Given the description of an element on the screen output the (x, y) to click on. 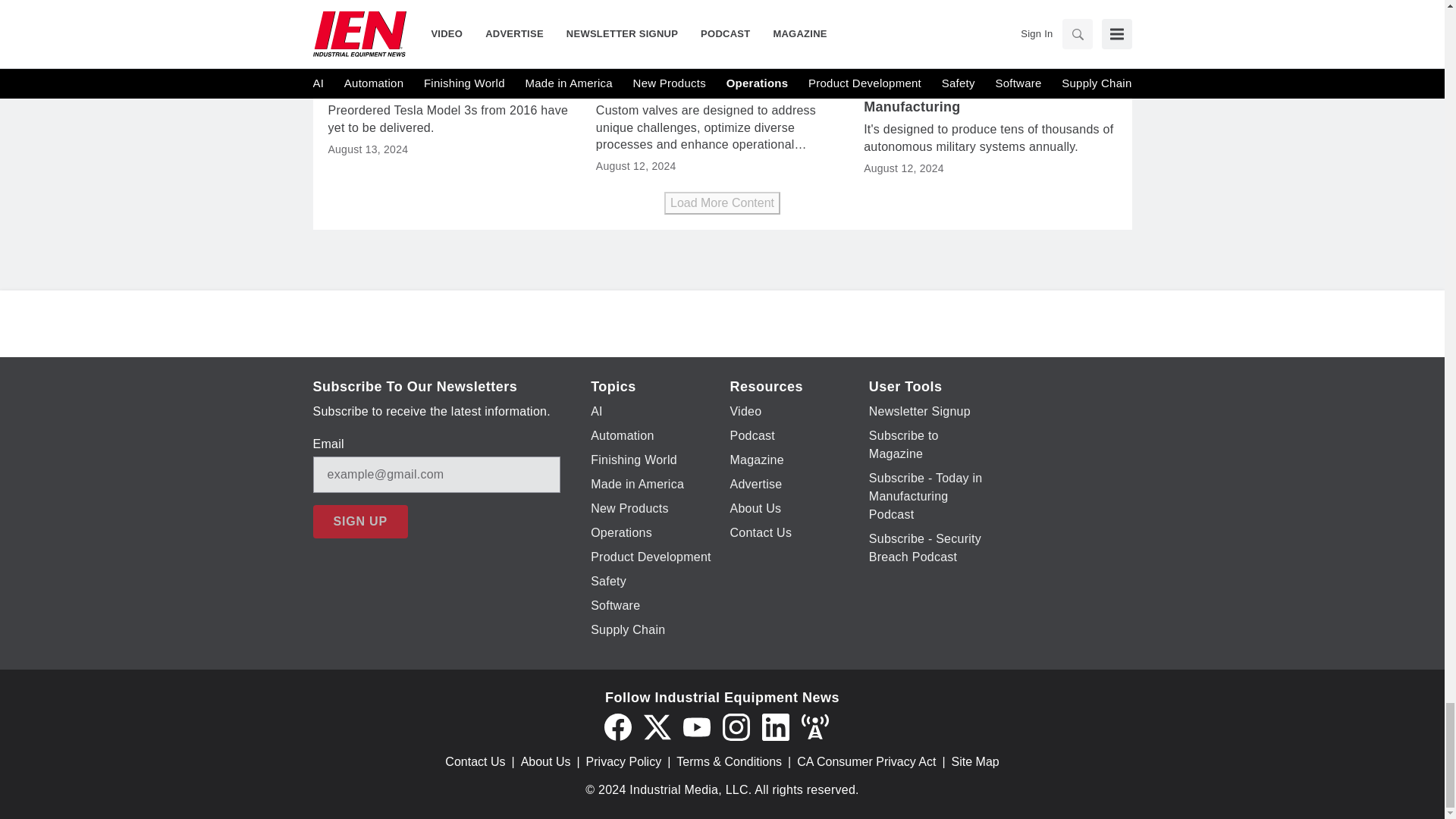
YouTube icon (696, 727)
Instagram icon (735, 727)
Facebook icon (617, 727)
Twitter X icon (656, 727)
LinkedIn icon (775, 727)
